Given the description of an element on the screen output the (x, y) to click on. 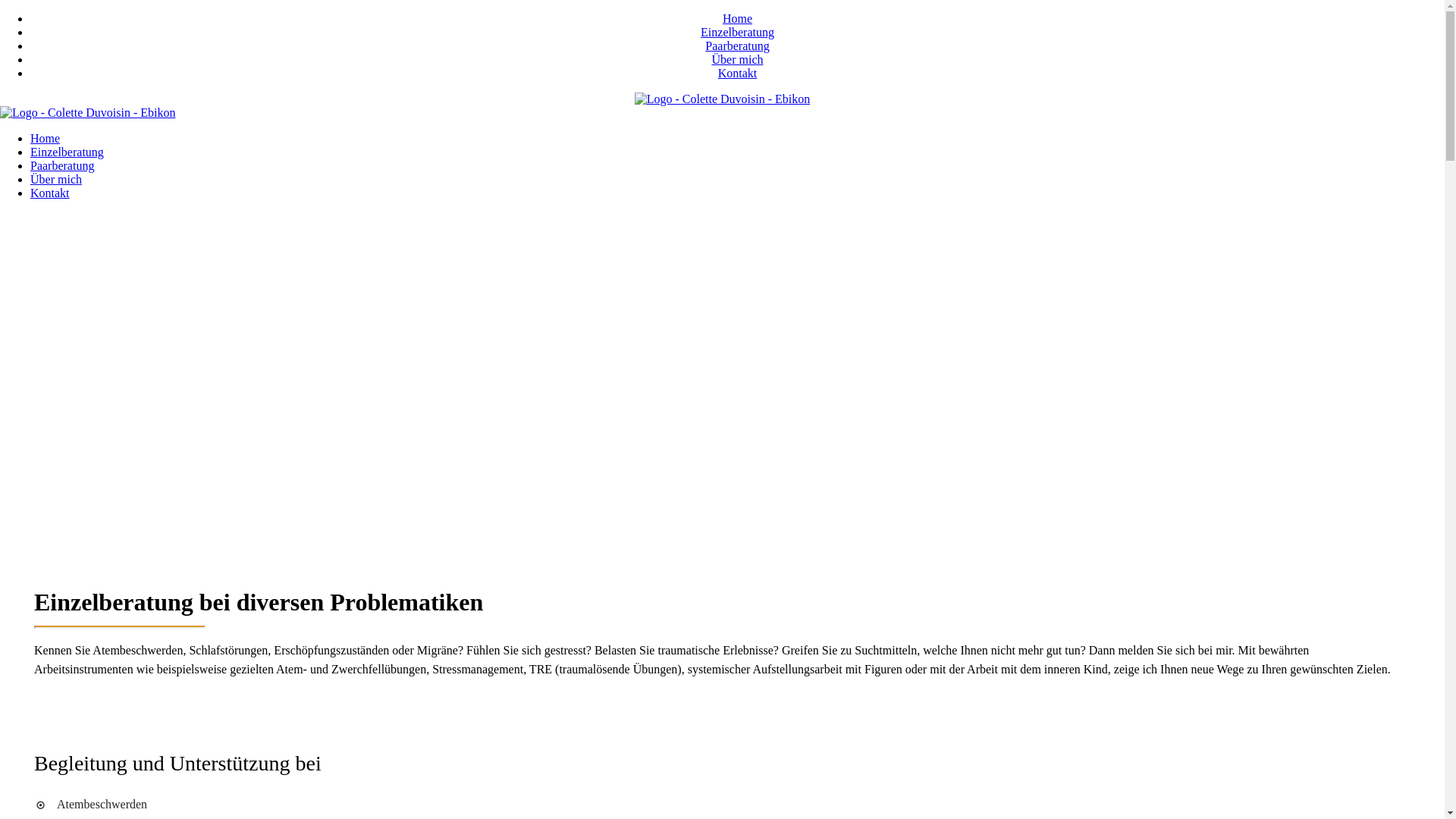
Paarberatung Element type: text (62, 165)
Einzelberatung Element type: text (737, 31)
Home Element type: text (737, 18)
Kontakt Element type: text (737, 72)
Einzelberatung Element type: text (66, 151)
Kontakt Element type: text (49, 192)
Paarberatung Element type: text (736, 45)
Home Element type: text (44, 137)
